Given the description of an element on the screen output the (x, y) to click on. 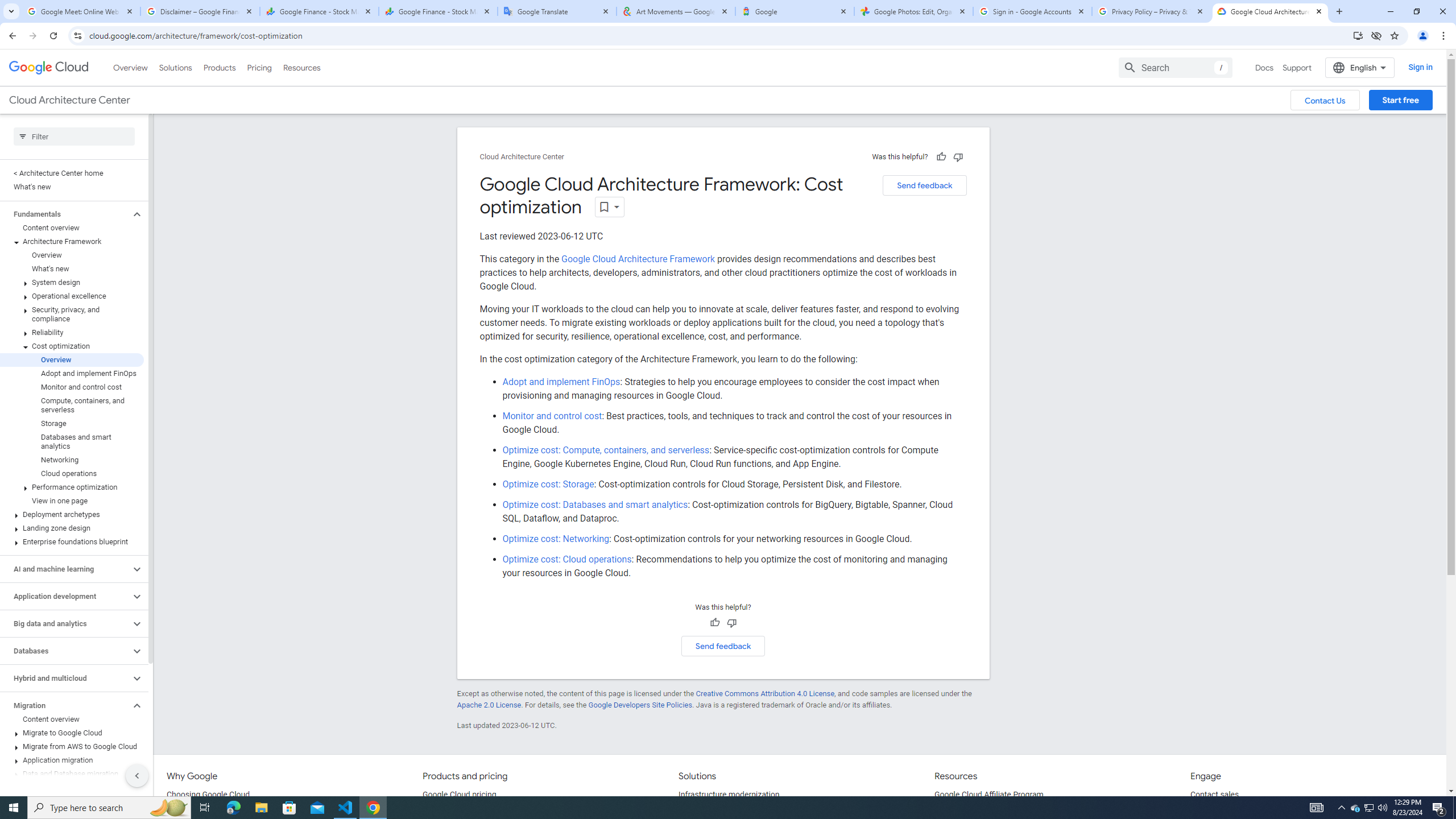
Databases (64, 650)
Application development (64, 596)
Networking (72, 459)
Pricing (259, 67)
Google Cloud pricing (459, 795)
Google Cloud Affiliate Program (988, 795)
Data and Database migration (72, 773)
Hybrid and multicloud (64, 678)
Helpful (714, 622)
Resources (301, 67)
Google Translate (556, 11)
